Given the description of an element on the screen output the (x, y) to click on. 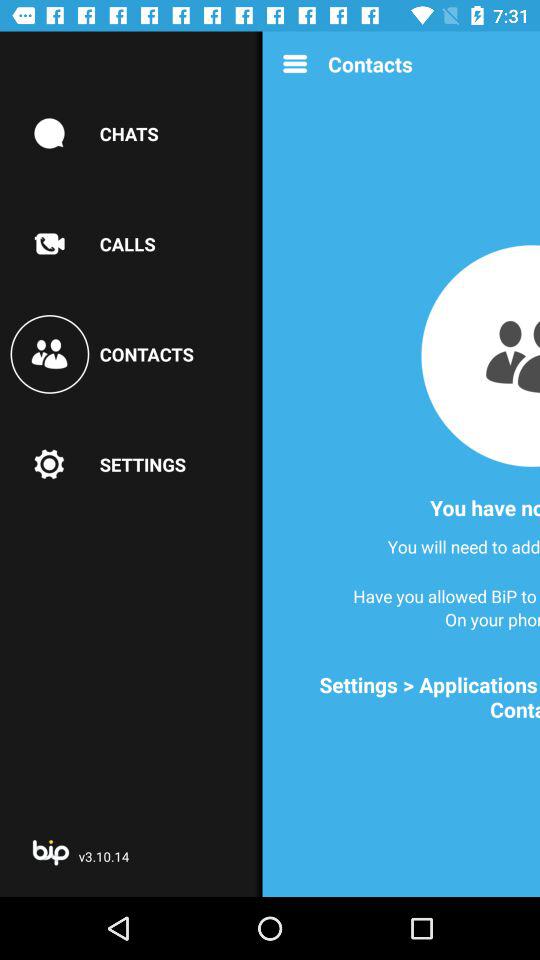
select the settings applications bip item (407, 697)
